Given the description of an element on the screen output the (x, y) to click on. 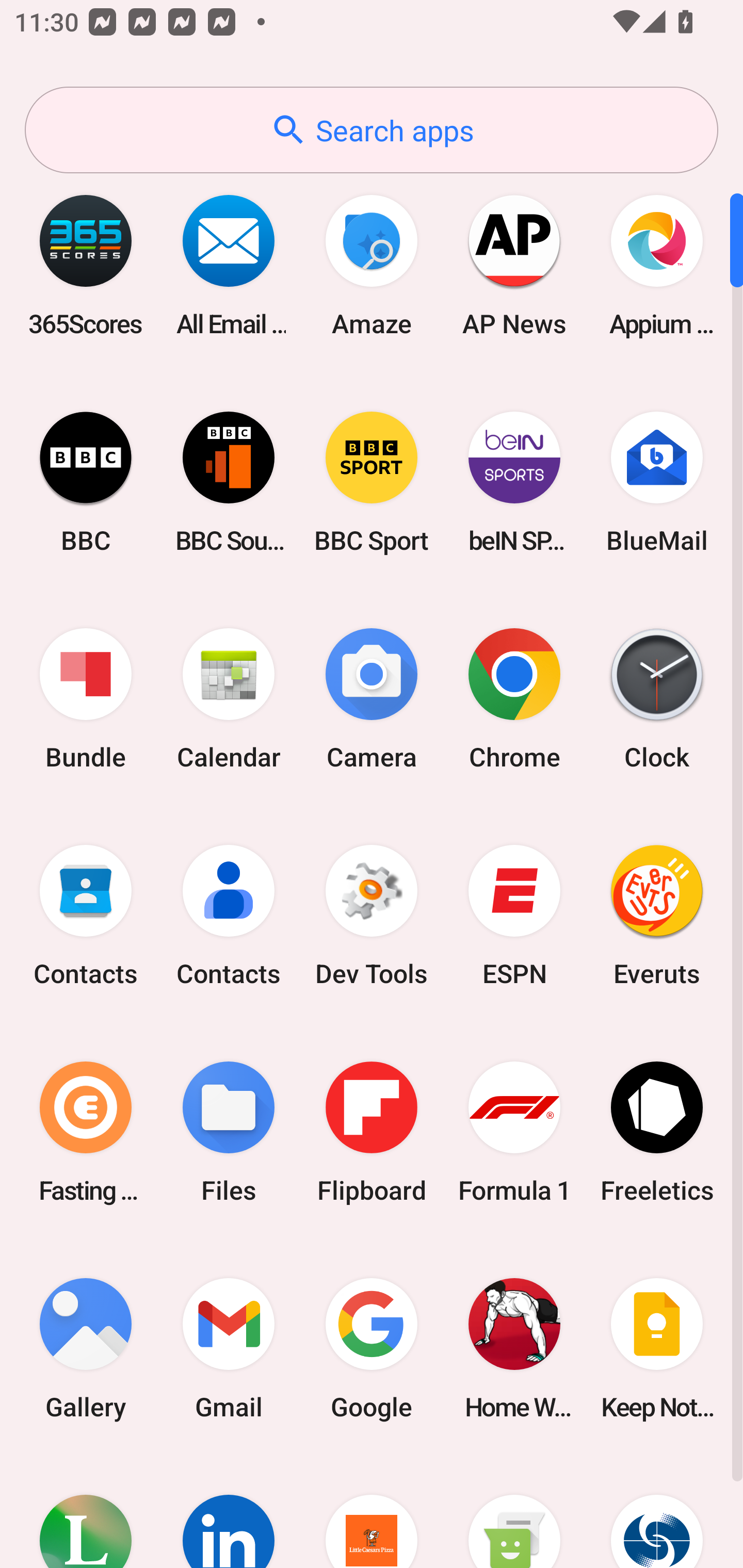
  Search apps (371, 130)
365Scores (85, 264)
All Email Connect (228, 264)
Amaze (371, 264)
AP News (514, 264)
Appium Settings (656, 264)
BBC (85, 482)
BBC Sounds (228, 482)
BBC Sport (371, 482)
beIN SPORTS (514, 482)
BlueMail (656, 482)
Bundle (85, 699)
Calendar (228, 699)
Camera (371, 699)
Chrome (514, 699)
Clock (656, 699)
Contacts (85, 915)
Contacts (228, 915)
Dev Tools (371, 915)
ESPN (514, 915)
Everuts (656, 915)
Fasting Coach (85, 1131)
Files (228, 1131)
Flipboard (371, 1131)
Formula 1 (514, 1131)
Freeletics (656, 1131)
Gallery (85, 1348)
Gmail (228, 1348)
Google (371, 1348)
Home Workout (514, 1348)
Keep Notes (656, 1348)
Lifesum (85, 1512)
LinkedIn (228, 1512)
Little Caesars Pizza (371, 1512)
Messaging (514, 1512)
MyObservatory (656, 1512)
